Given the description of an element on the screen output the (x, y) to click on. 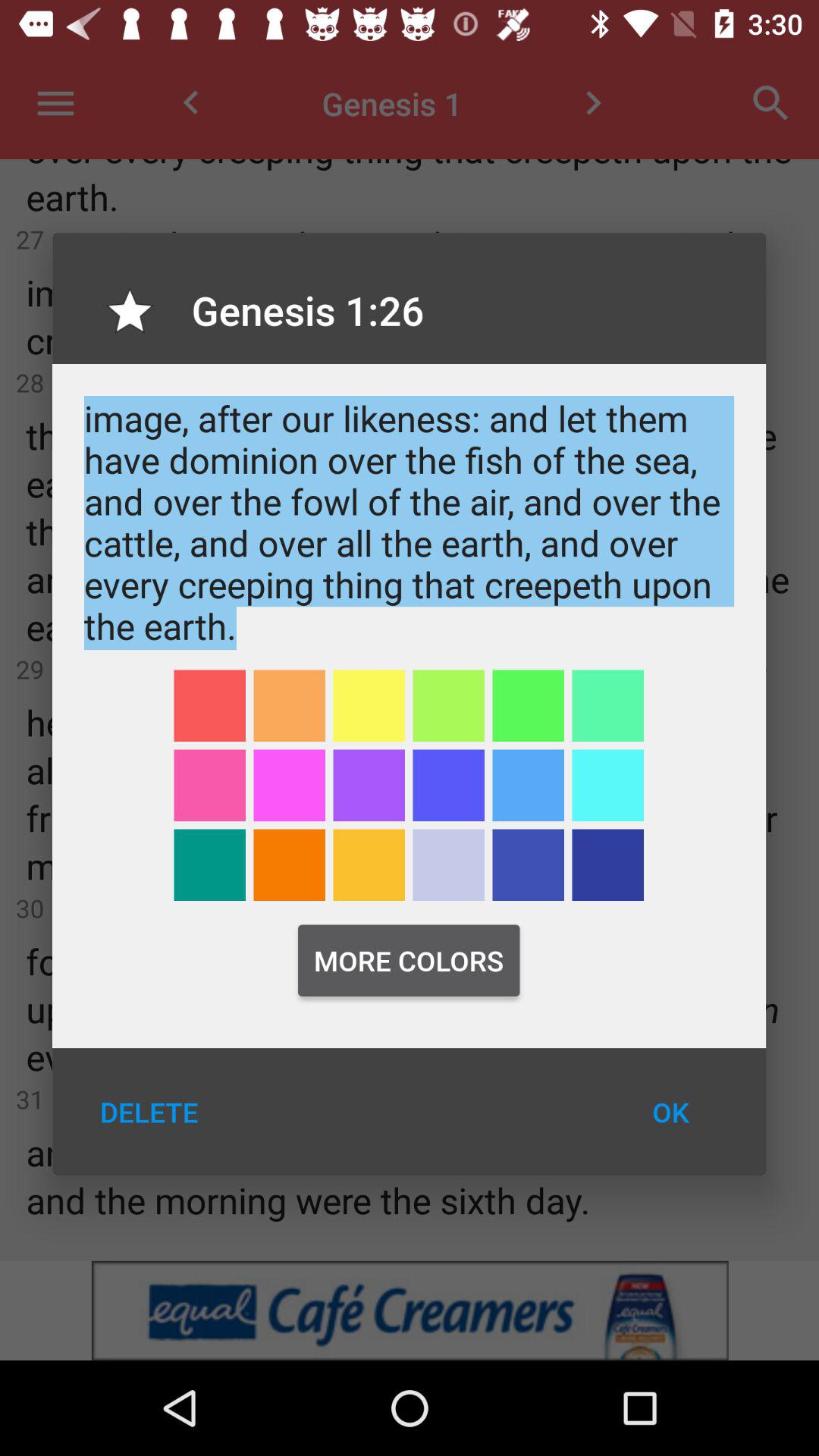
lavender color for highlighting words (448, 864)
